Given the description of an element on the screen output the (x, y) to click on. 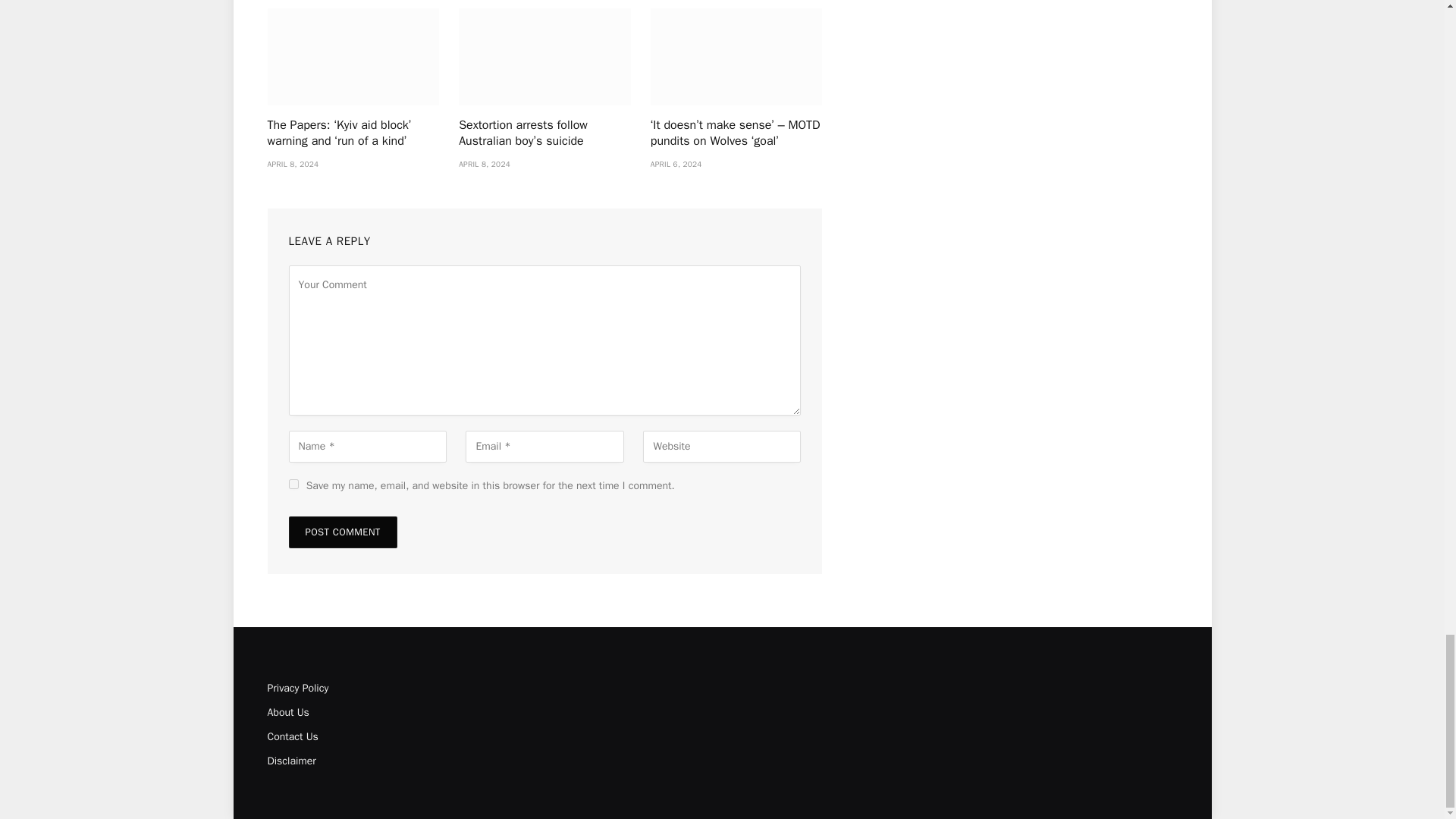
yes (293, 483)
Post Comment (342, 531)
